Given the description of an element on the screen output the (x, y) to click on. 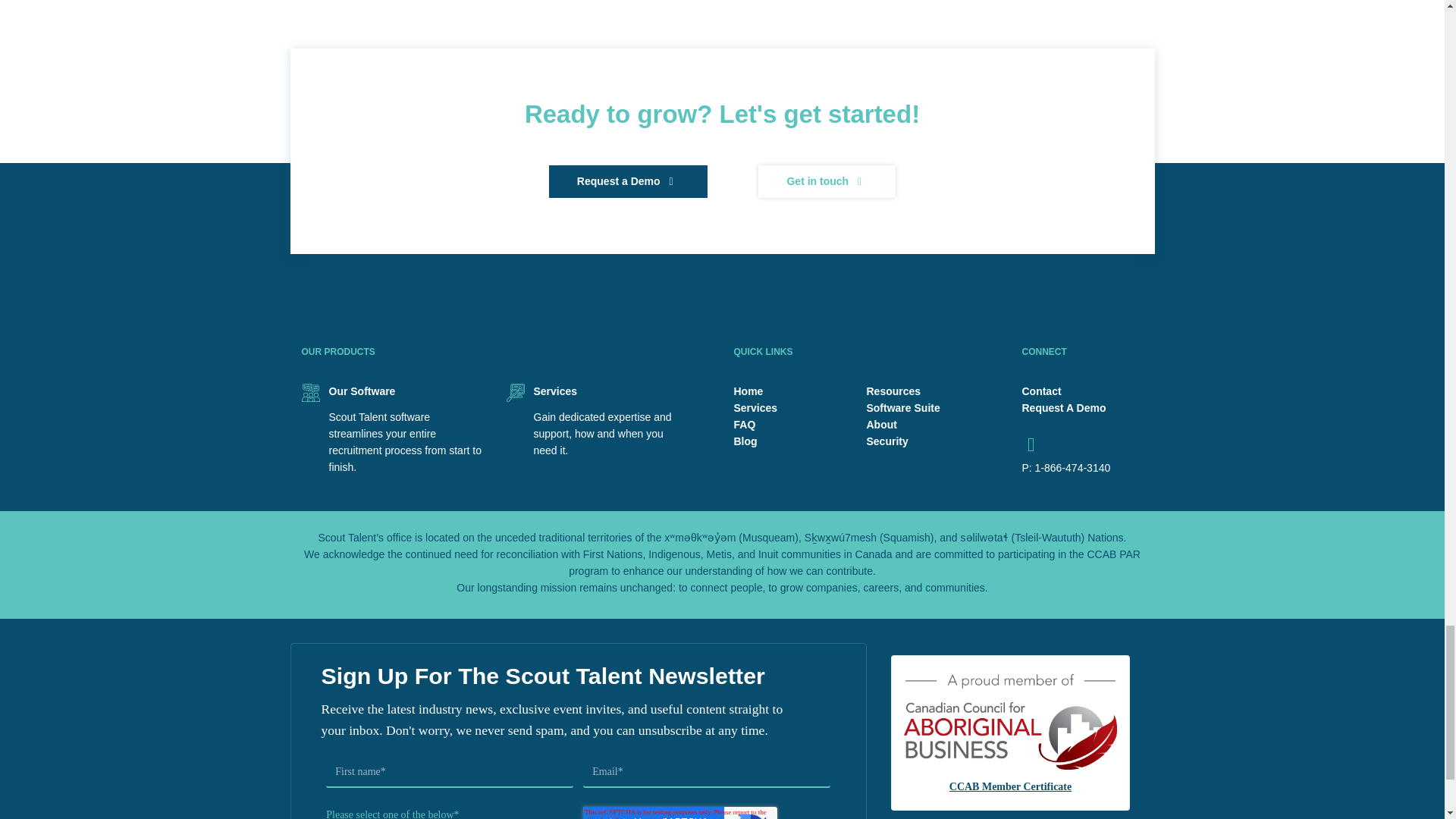
reCAPTCHA (680, 812)
